Given the description of an element on the screen output the (x, y) to click on. 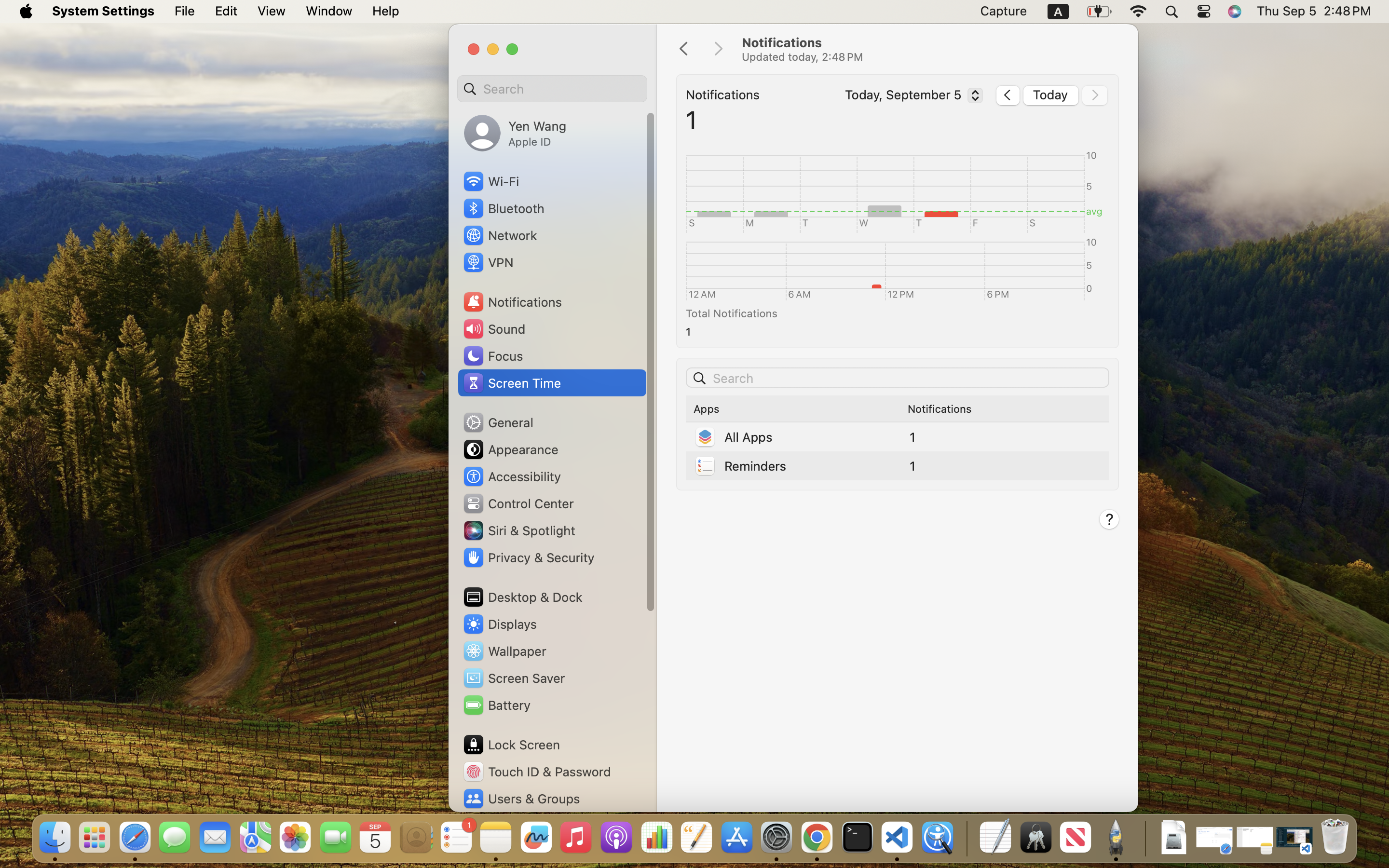
Screen Saver Element type: AXStaticText (513, 677)
Control Center Element type: AXStaticText (517, 503)
0.4285714328289032 Element type: AXDockItem (965, 837)
Wallpaper Element type: AXStaticText (503, 650)
Focus Element type: AXStaticText (492, 355)
